Given the description of an element on the screen output the (x, y) to click on. 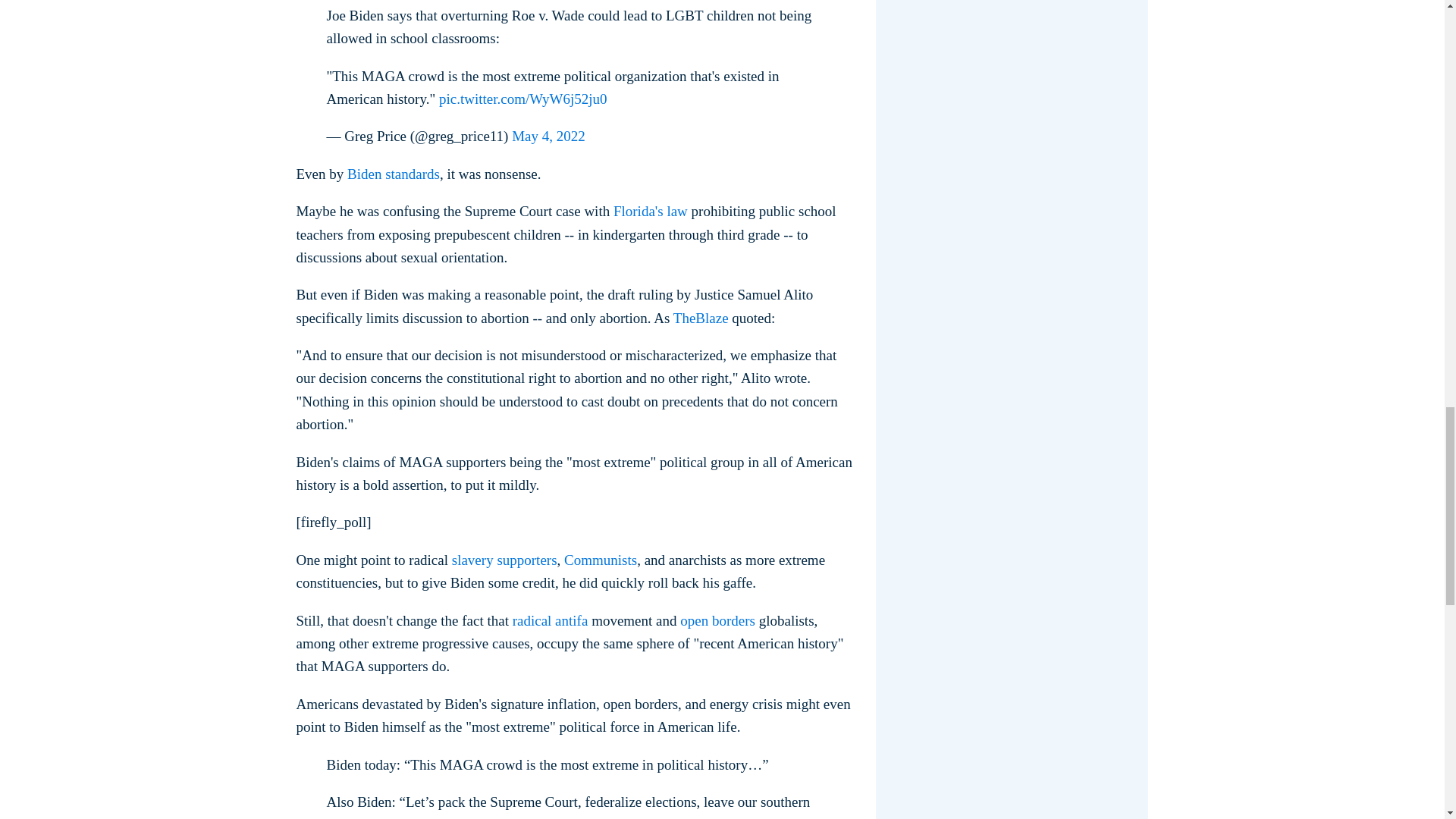
Biden standards (393, 173)
open borders (717, 620)
Communists (600, 560)
radical antifa (550, 620)
Florida's law (649, 211)
slavery supporters (504, 560)
TheBlaze (700, 317)
May 4, 2022 (548, 135)
